Given the description of an element on the screen output the (x, y) to click on. 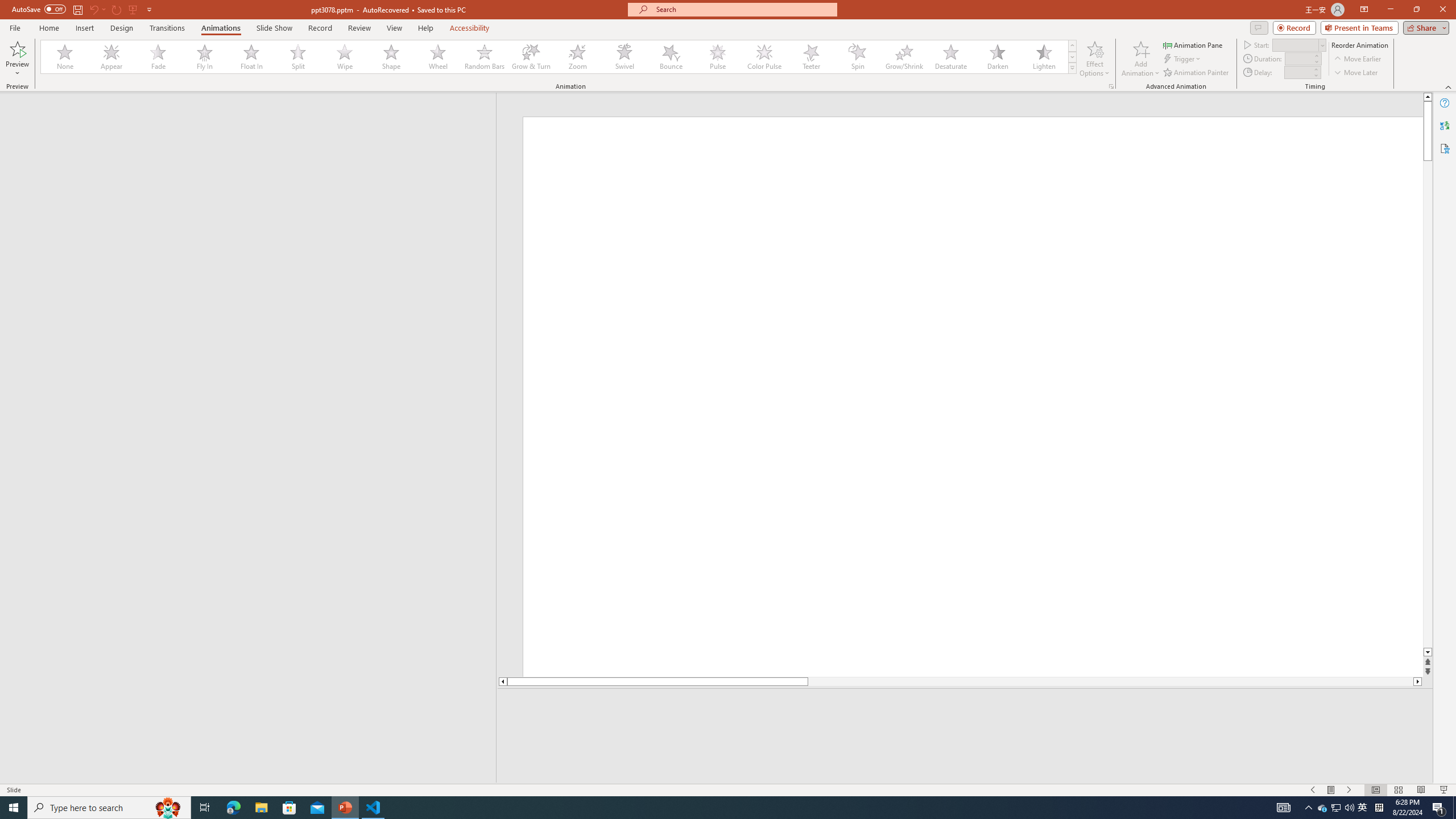
Pulse (717, 56)
Fly In (205, 56)
Float In (251, 56)
